Given the description of an element on the screen output the (x, y) to click on. 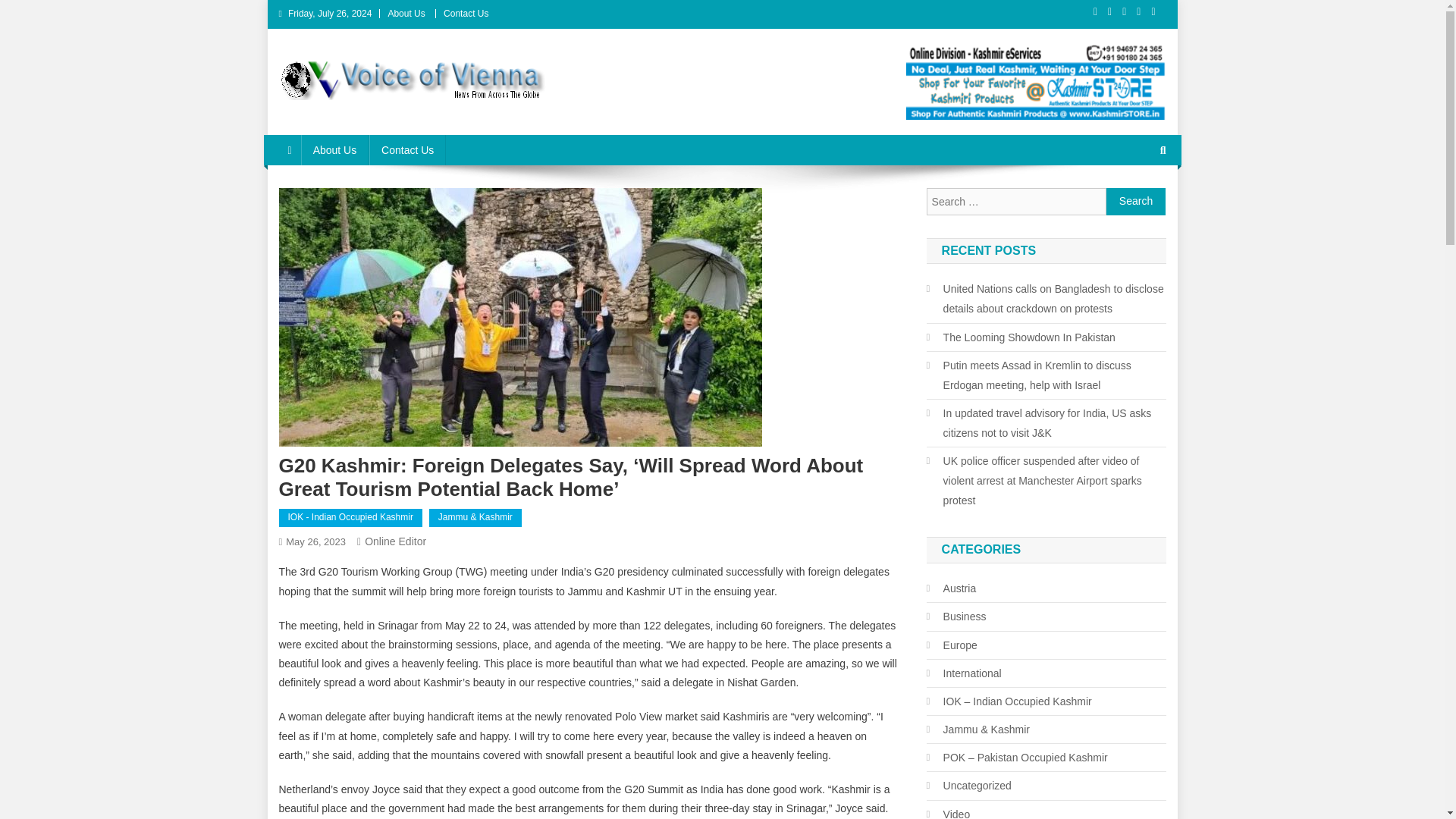
Voice of Vienna (368, 114)
About Us (335, 150)
About Us (406, 13)
The Looming Showdown In Pakistan (1020, 337)
Search (1136, 201)
Search (1133, 200)
Search (1136, 201)
Contact Us (465, 13)
May 26, 2023 (315, 541)
Search (1136, 201)
IOK - Indian Occupied Kashmir (350, 517)
Contact Us (407, 150)
Online Editor (395, 541)
